Given the description of an element on the screen output the (x, y) to click on. 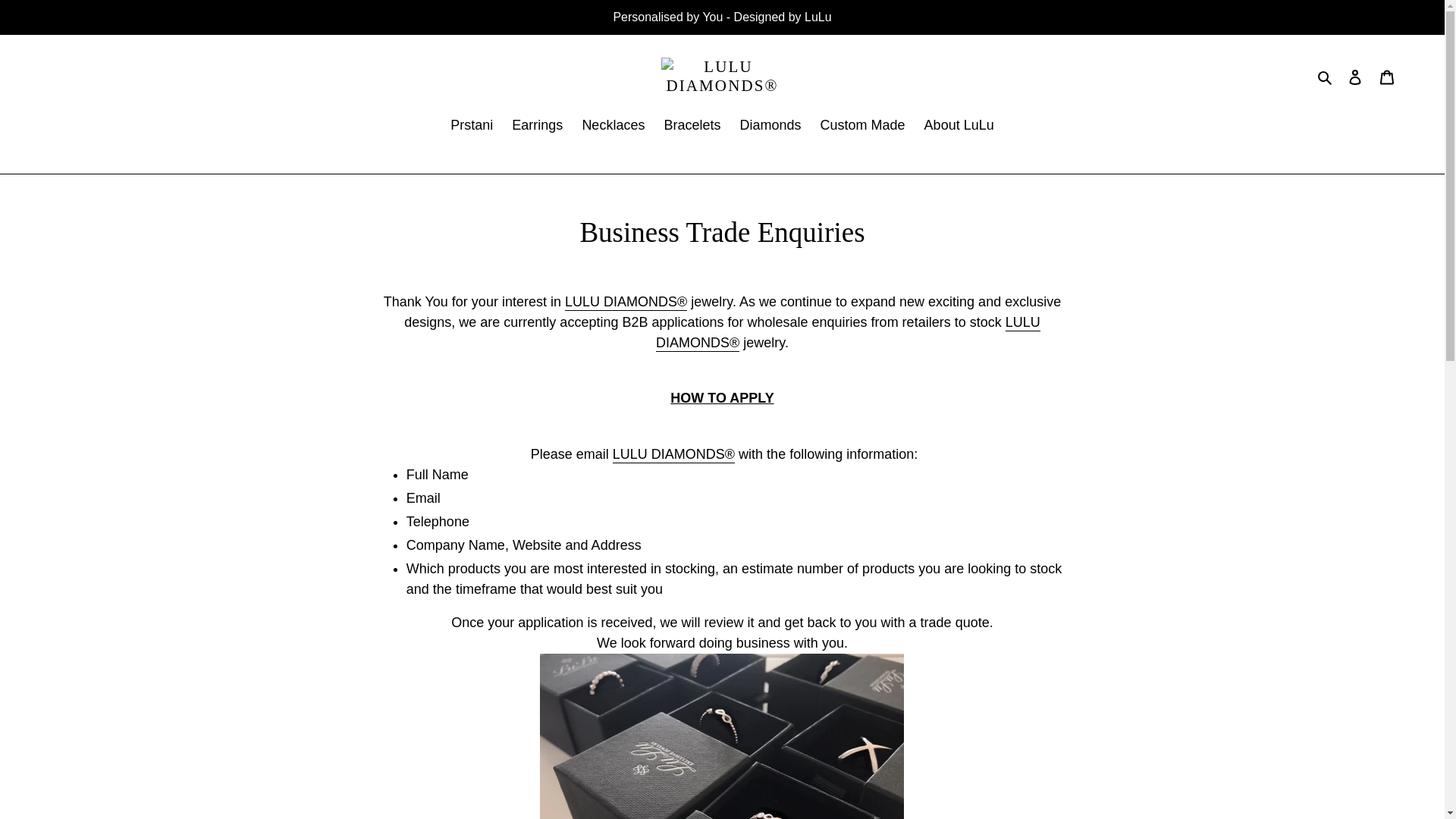
Bracelets (692, 126)
All products (848, 333)
Cart (1387, 76)
Log in (1355, 76)
Diamonds (770, 126)
Necklaces (612, 126)
Search (1326, 76)
Custom Made (862, 126)
All products (673, 454)
All products (625, 302)
Prstani (471, 126)
About LuLu (959, 126)
Earrings (536, 126)
